Given the description of an element on the screen output the (x, y) to click on. 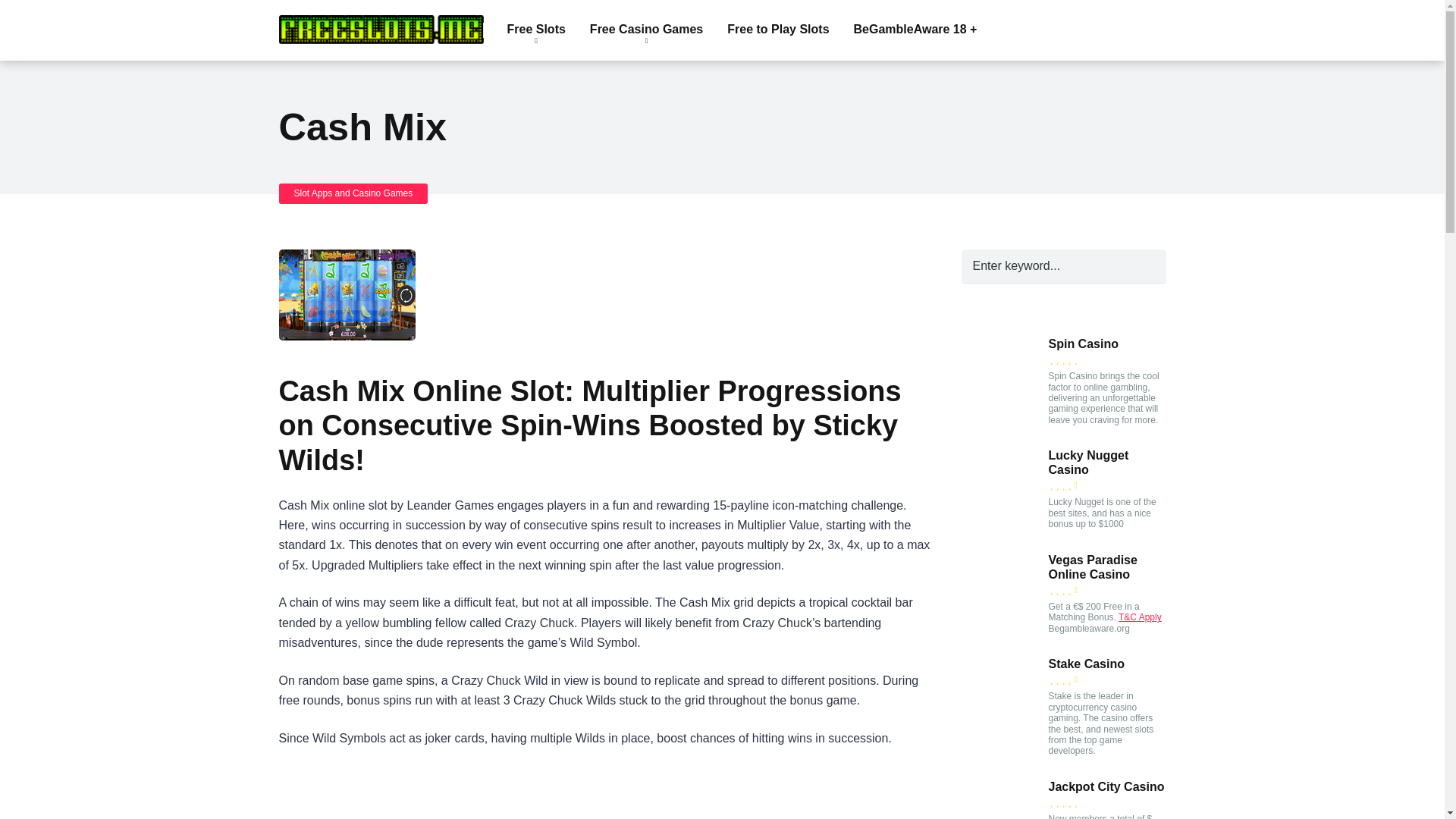
Lucky Nugget Casino (1088, 462)
Lucky Nugget Casino (1088, 462)
Spin Casino (1083, 344)
Vegas Paradise Online Casino (1092, 567)
Stake Casino (1004, 739)
Free Slots (535, 30)
Free Casino Games (646, 30)
Lucky Nugget Casino (1004, 530)
Stake Casino (1086, 663)
Spin Casino (1004, 413)
